Given the description of an element on the screen output the (x, y) to click on. 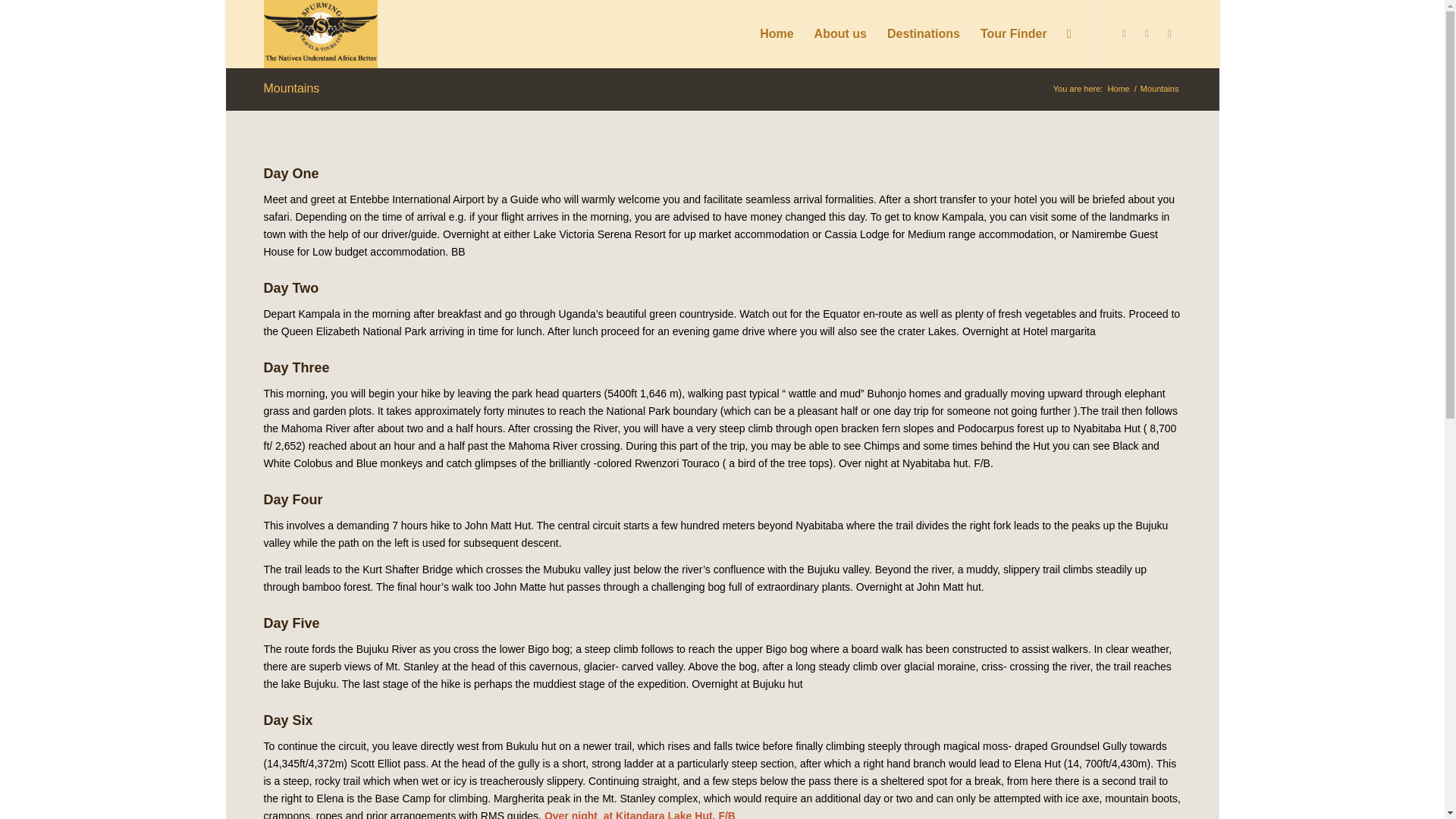
logo (320, 33)
Destinations (922, 33)
About us (839, 33)
Mountains (291, 88)
Permanent Link: Mountains (291, 88)
